Given the description of an element on the screen output the (x, y) to click on. 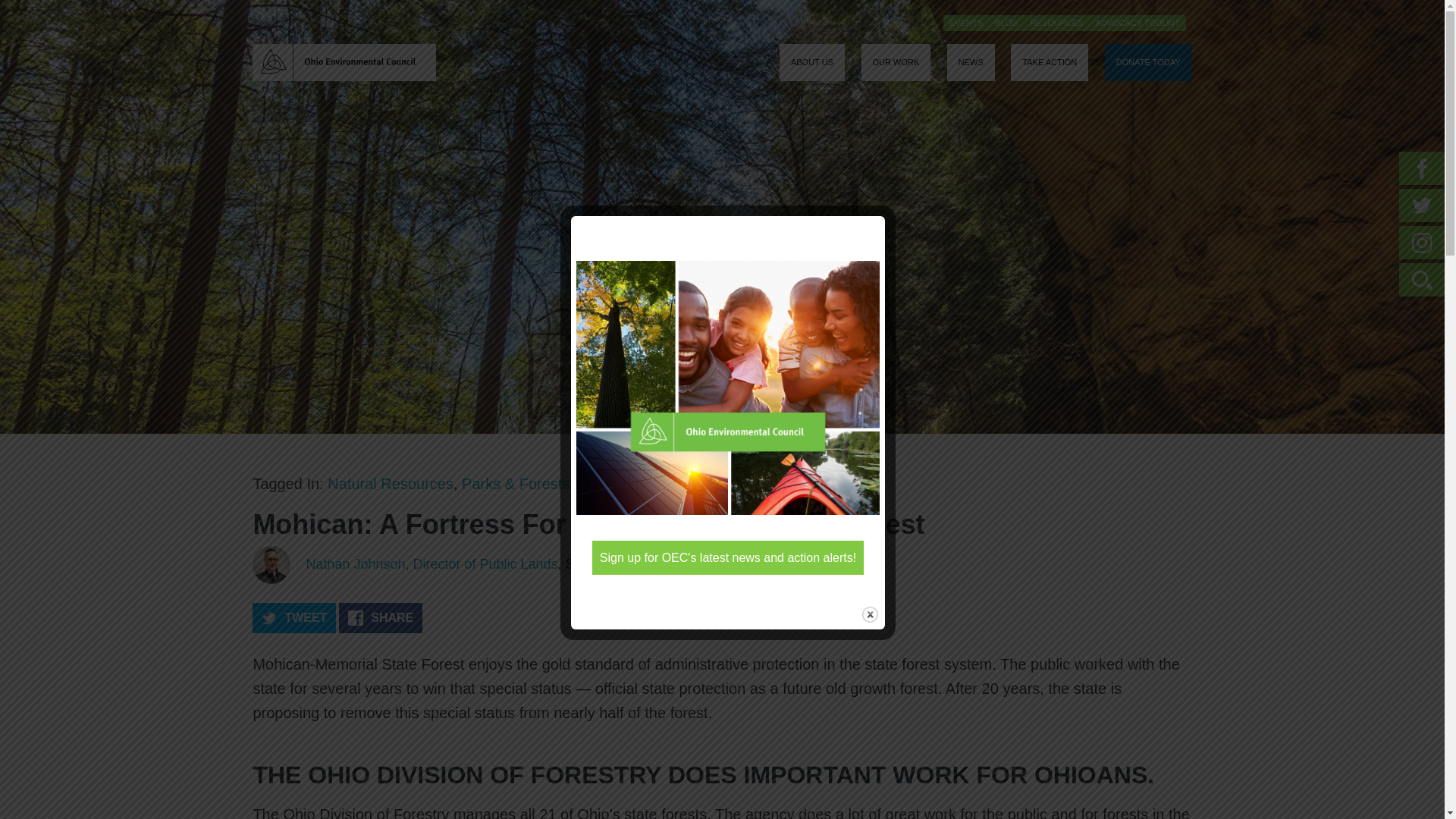
BLOG (1006, 23)
SHARE (380, 616)
TWEET (293, 616)
Close (869, 614)
Nathan Johnson, Director of Public Lands (431, 563)
NEWS (970, 62)
SHARE (380, 616)
TWEET (293, 616)
RESOURCES (1057, 23)
TAKE ACTION (1048, 62)
OUR WORK (896, 62)
ABOUT US (811, 62)
DONATE TODAY (1148, 62)
ADVOCACY TOOLKIT (1137, 23)
Natural Resources (389, 483)
